Given the description of an element on the screen output the (x, y) to click on. 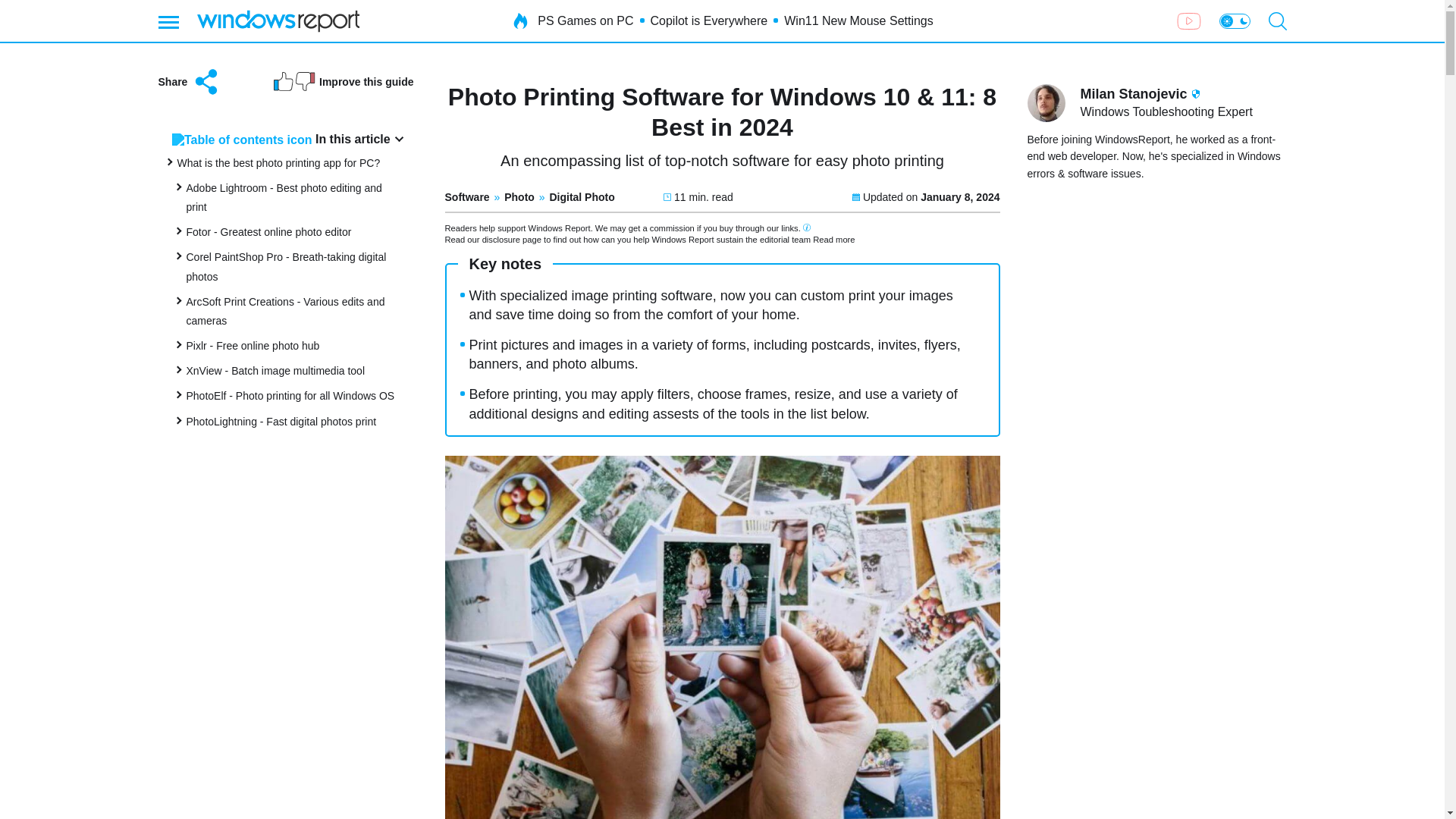
Open search bar (1276, 21)
ArcSoft Print Creations - Various edits and cameras (285, 310)
PS Games on PC (585, 21)
Win11 New Mouse Settings (858, 21)
Adobe Lightroom - Best photo editing and print (283, 196)
Corel PaintShop Pro - Breath-taking digital photos (286, 265)
Fotor - Greatest online photo editor (269, 232)
Share (189, 81)
What is the best photo printing app for PC? (278, 162)
Share this article (189, 81)
Copilot is Everywhere (709, 21)
Pixlr - Free online photo hub (253, 345)
